Given the description of an element on the screen output the (x, y) to click on. 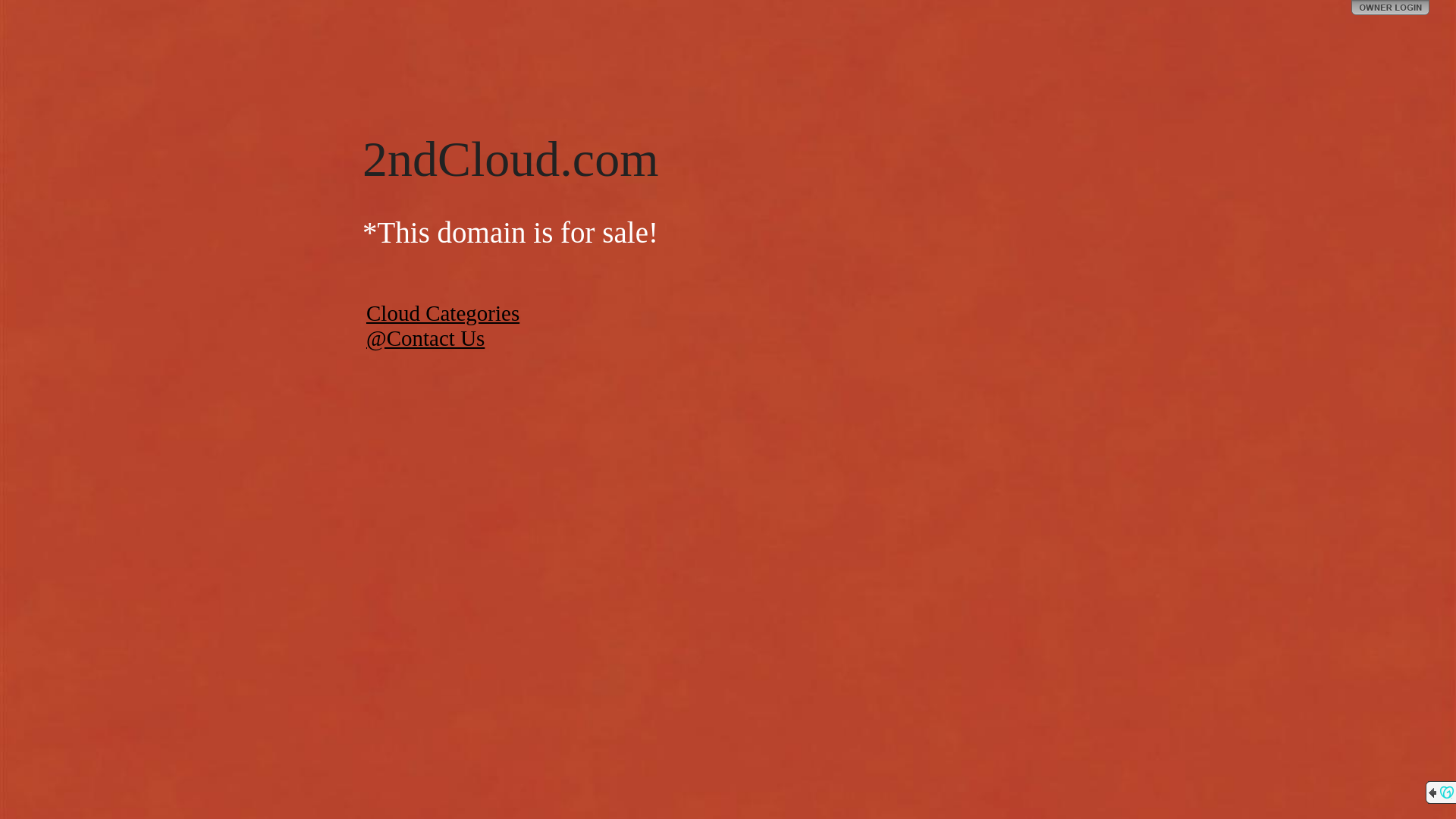
@Contact Us Element type: text (425, 338)
Cloud Categories Element type: text (442, 313)
